Given the description of an element on the screen output the (x, y) to click on. 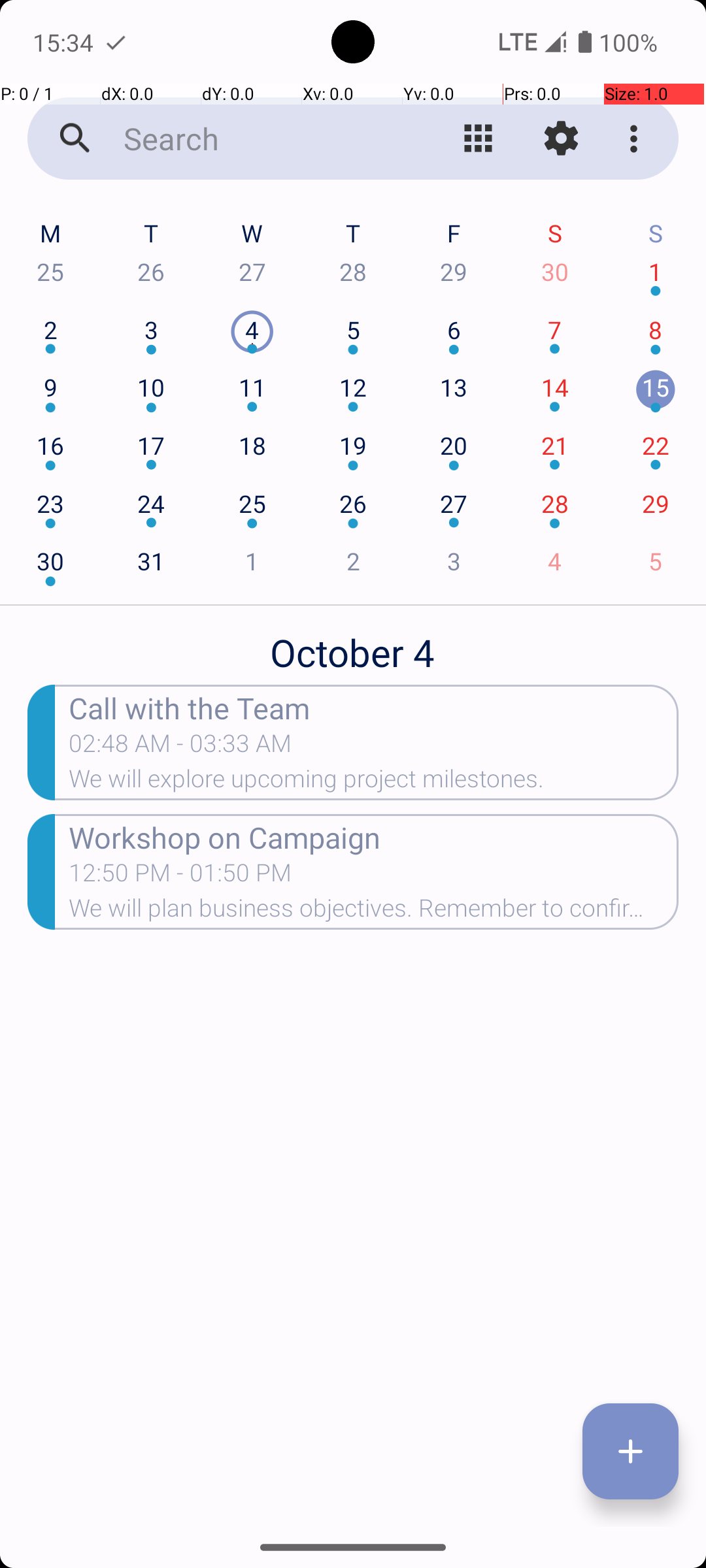
October 4 Element type: android.widget.TextView (352, 644)
02:48 AM - 03:33 AM Element type: android.widget.TextView (179, 747)
We will explore upcoming project milestones. Element type: android.widget.TextView (373, 782)
12:50 PM - 01:50 PM Element type: android.widget.TextView (179, 876)
We will plan business objectives. Remember to confirm attendance. Element type: android.widget.TextView (373, 911)
